Given the description of an element on the screen output the (x, y) to click on. 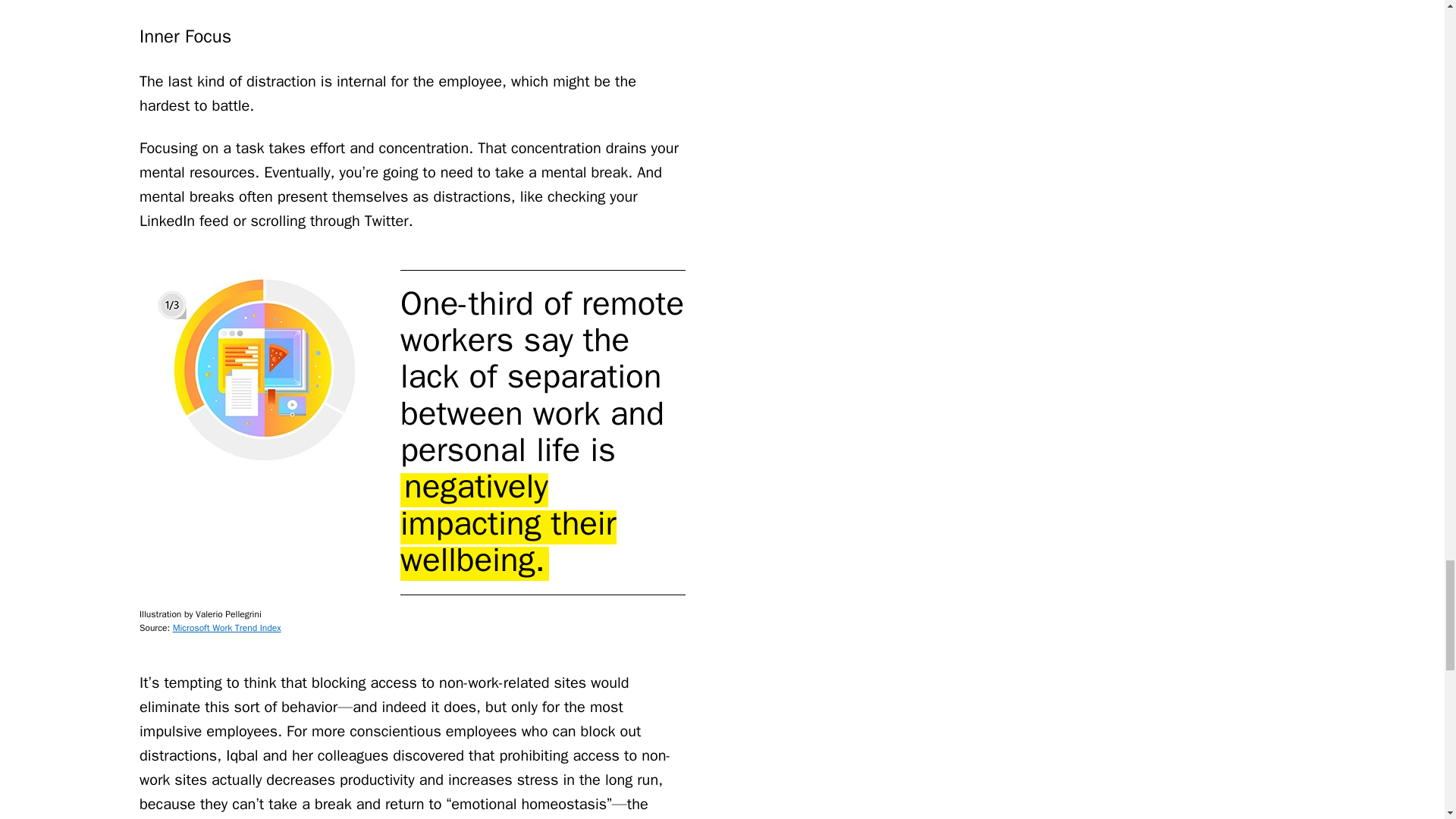
Microsoft Work Trend Index (227, 627)
